Given the description of an element on the screen output the (x, y) to click on. 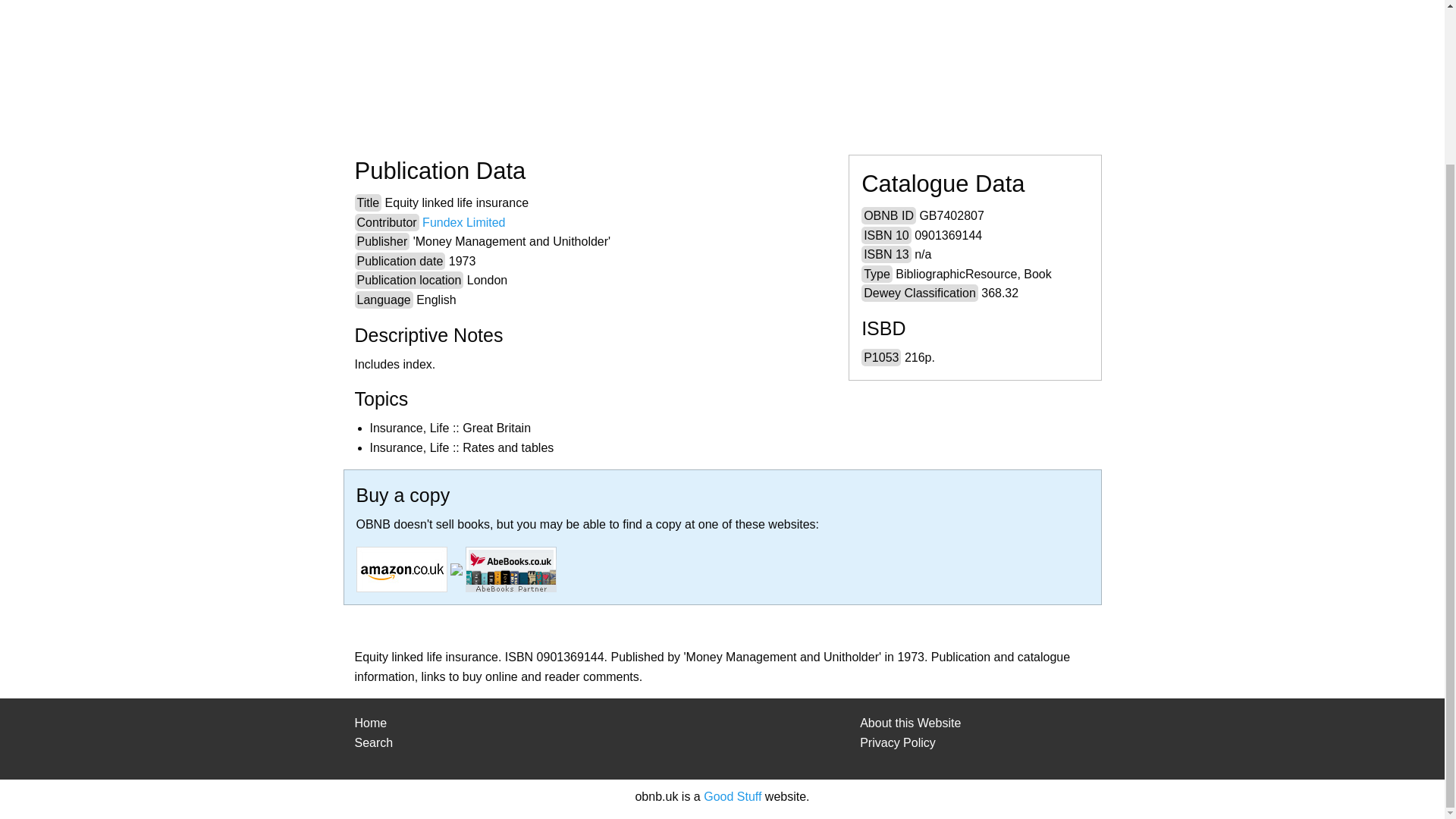
Privacy Policy (898, 742)
Search (374, 742)
Fundex Limited (463, 222)
About this Website (910, 722)
Good Stuff (732, 796)
Home (371, 722)
Advertisement (784, 62)
